Given the description of an element on the screen output the (x, y) to click on. 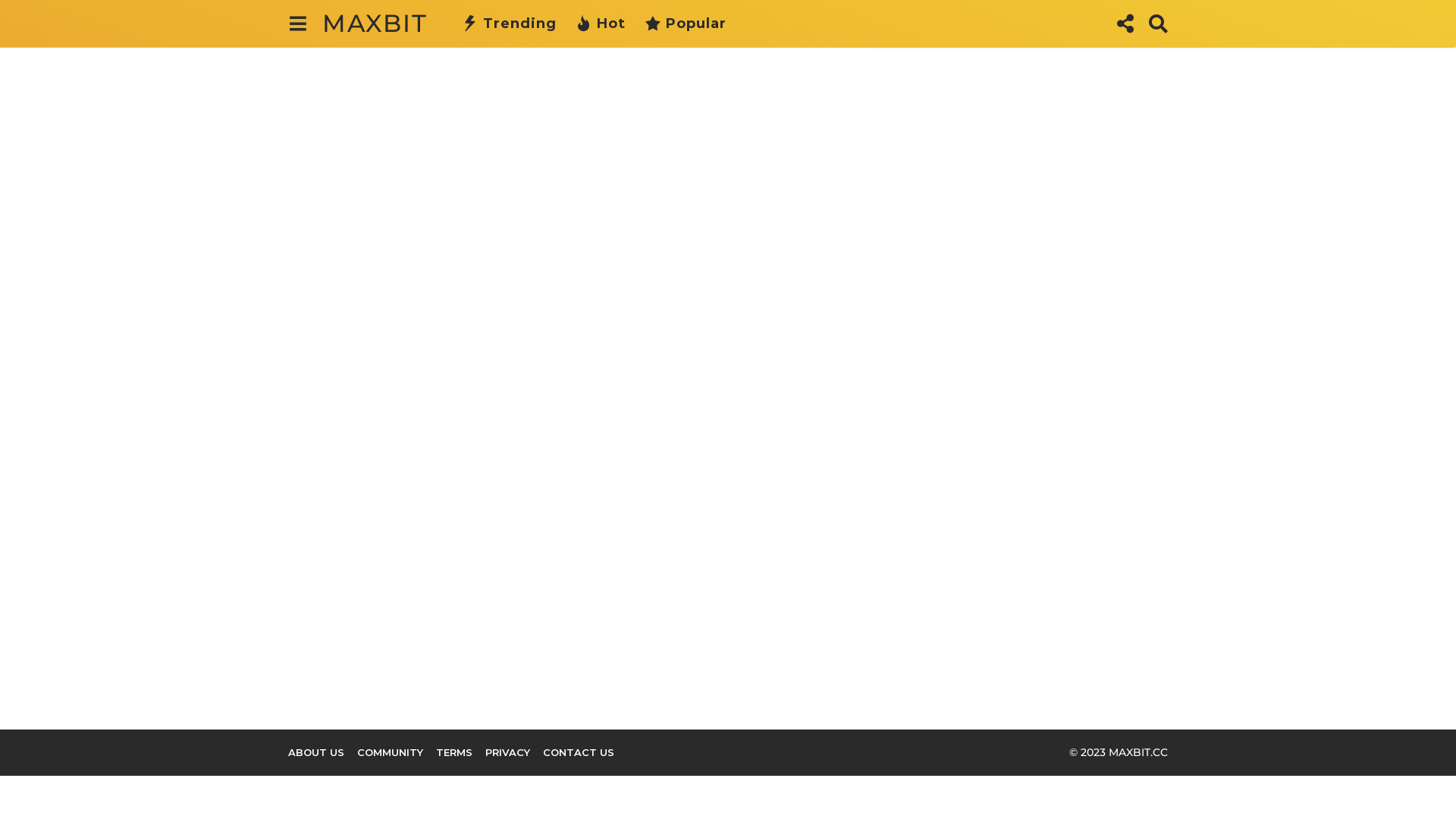
Trending Element type: text (508, 23)
ABOUT US Element type: text (316, 752)
CONTACT US Element type: text (578, 752)
Popular Element type: text (685, 23)
Hot Element type: text (600, 23)
TERMS Element type: text (454, 752)
MAXBIT Element type: text (374, 22)
COMMUNITY Element type: text (390, 752)
PRIVACY Element type: text (507, 752)
